Given the description of an element on the screen output the (x, y) to click on. 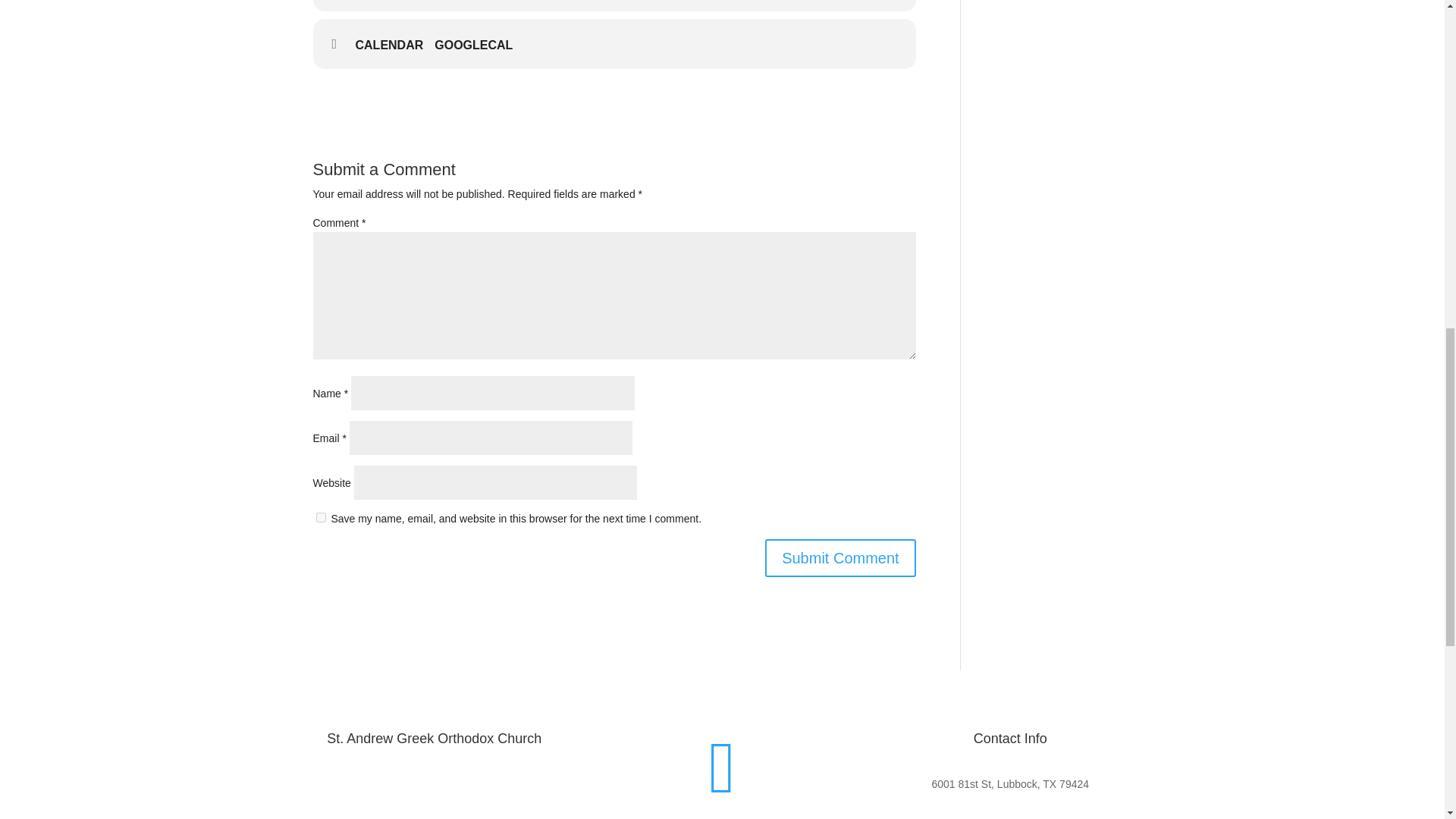
GOOGLECAL (478, 45)
Submit Comment (840, 557)
806-798-1828 (1009, 818)
Add to your calendar (394, 45)
CALENDAR (394, 45)
Add to google calendar (478, 45)
yes (319, 517)
Submit Comment (840, 557)
